Given the description of an element on the screen output the (x, y) to click on. 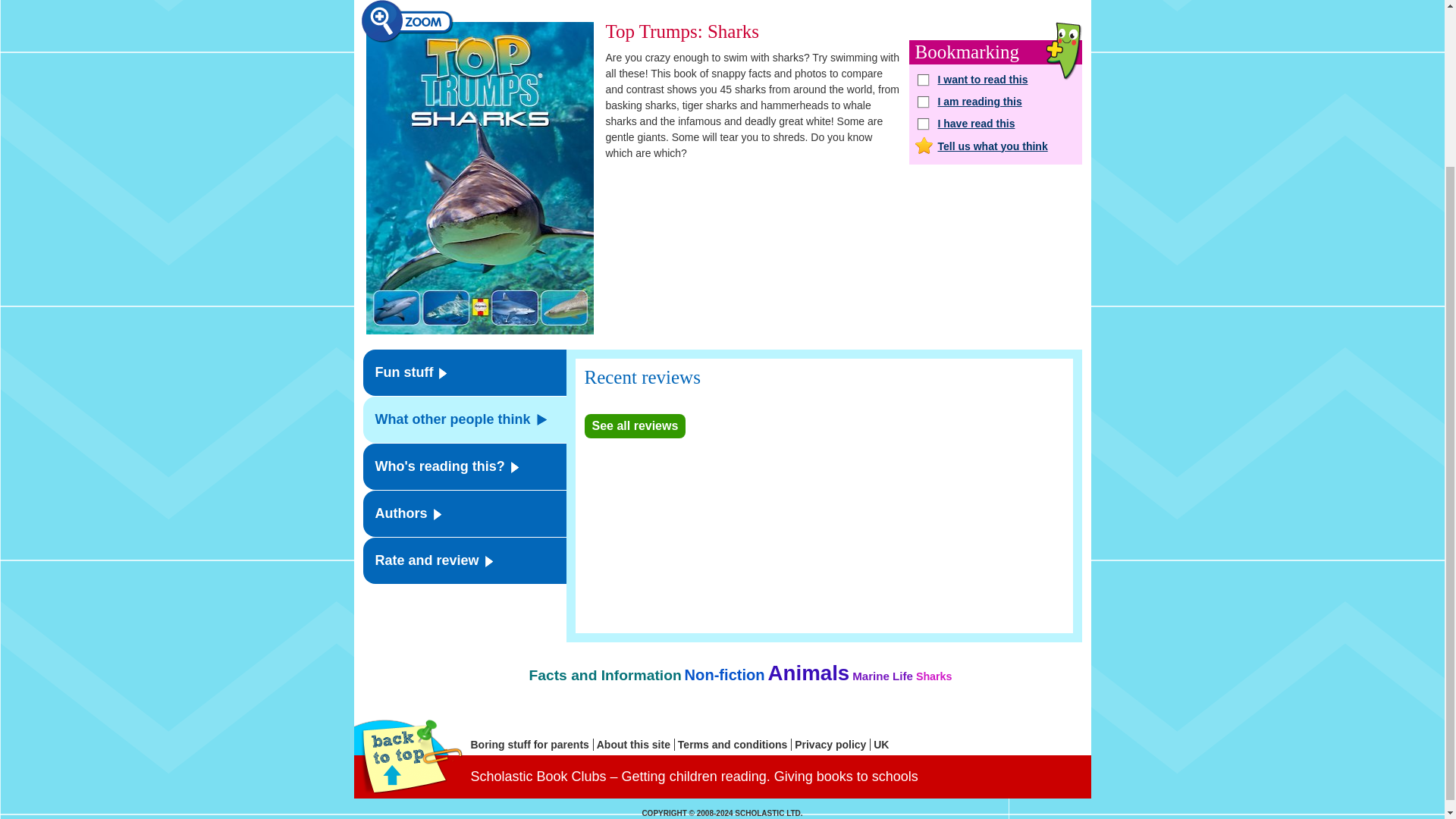
Marine Life (881, 675)
Non-fiction (724, 674)
Authors (464, 513)
Who's reading this? (464, 466)
What other people think (464, 419)
See all reviews (634, 426)
About this site (635, 744)
Facts and Information (604, 675)
Tell us what you think (994, 145)
I have read this (994, 122)
Fun stuff (464, 372)
Sharks (933, 676)
Terms and conditions (735, 744)
Rate and review (464, 560)
I am reading this (994, 101)
